Given the description of an element on the screen output the (x, y) to click on. 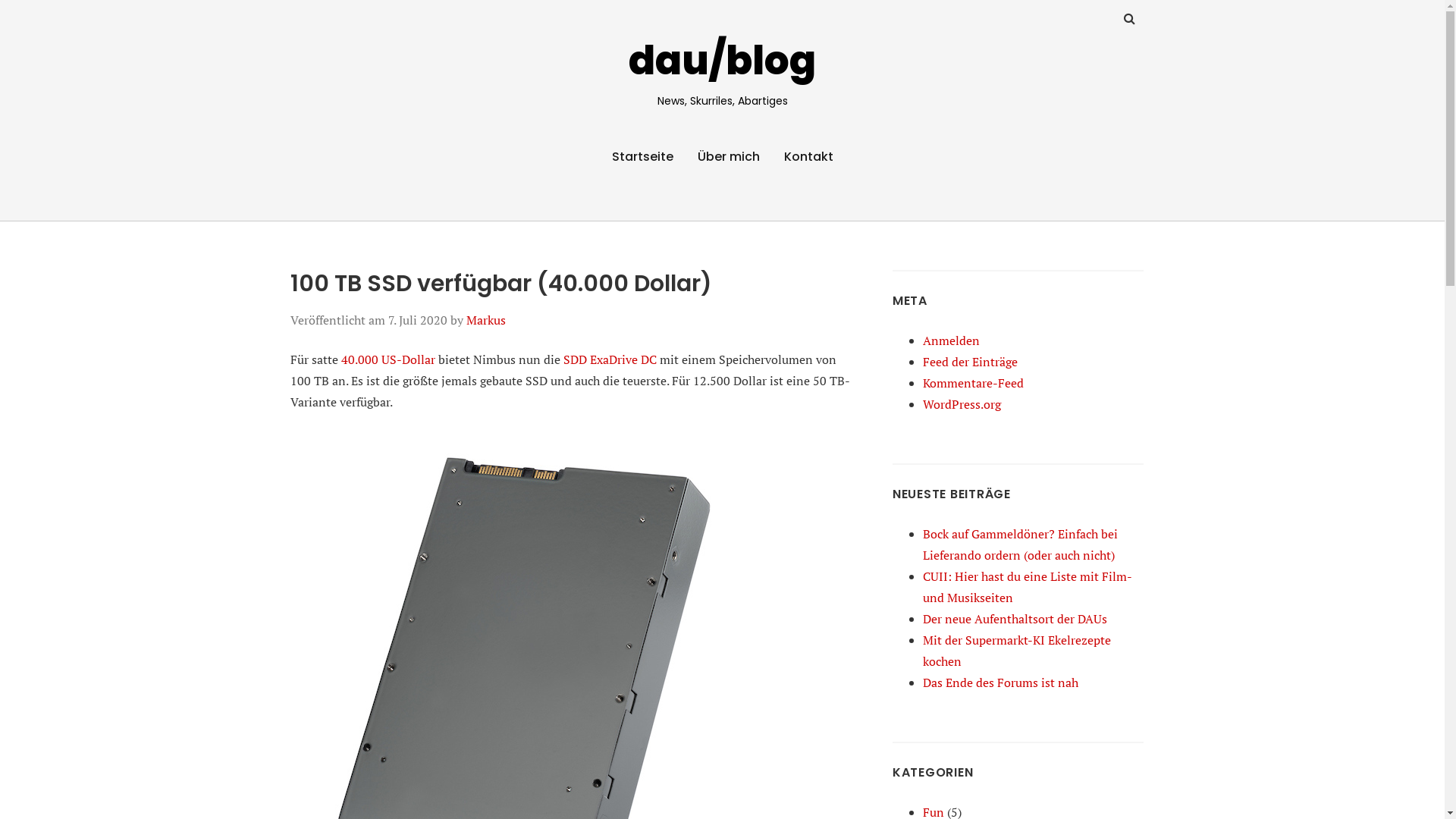
Anmelden Element type: text (950, 340)
Startseite Element type: text (641, 156)
Markus Element type: text (485, 319)
Mit der Supermarkt-KI Ekelrezepte kochen Element type: text (1016, 650)
Das Ende des Forums ist nah Element type: text (1000, 682)
dau/blog Element type: text (721, 59)
40.000 US-Dollar Element type: text (388, 359)
SDD ExaDrive DC Element type: text (608, 359)
Kontakt Element type: text (808, 156)
CUII: Hier hast du eine Liste mit Film- und Musikseiten Element type: text (1026, 586)
WordPress.org Element type: text (961, 403)
Der neue Aufenthaltsort der DAUs Element type: text (1014, 618)
Kommentare-Feed Element type: text (972, 382)
